Given the description of an element on the screen output the (x, y) to click on. 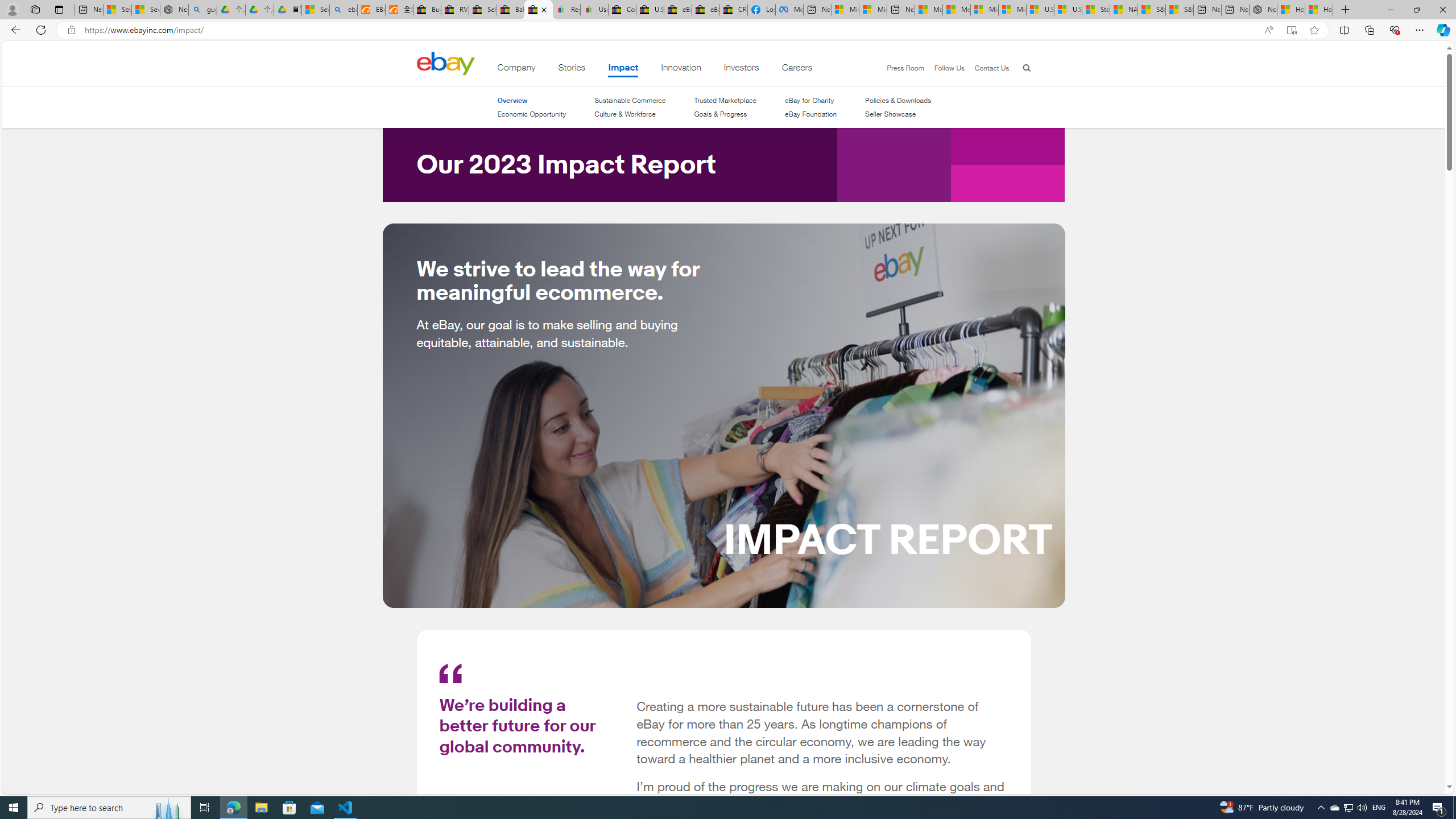
User Privacy Notice | eBay (593, 9)
Impact (623, 69)
Innovation (681, 69)
